Given the description of an element on the screen output the (x, y) to click on. 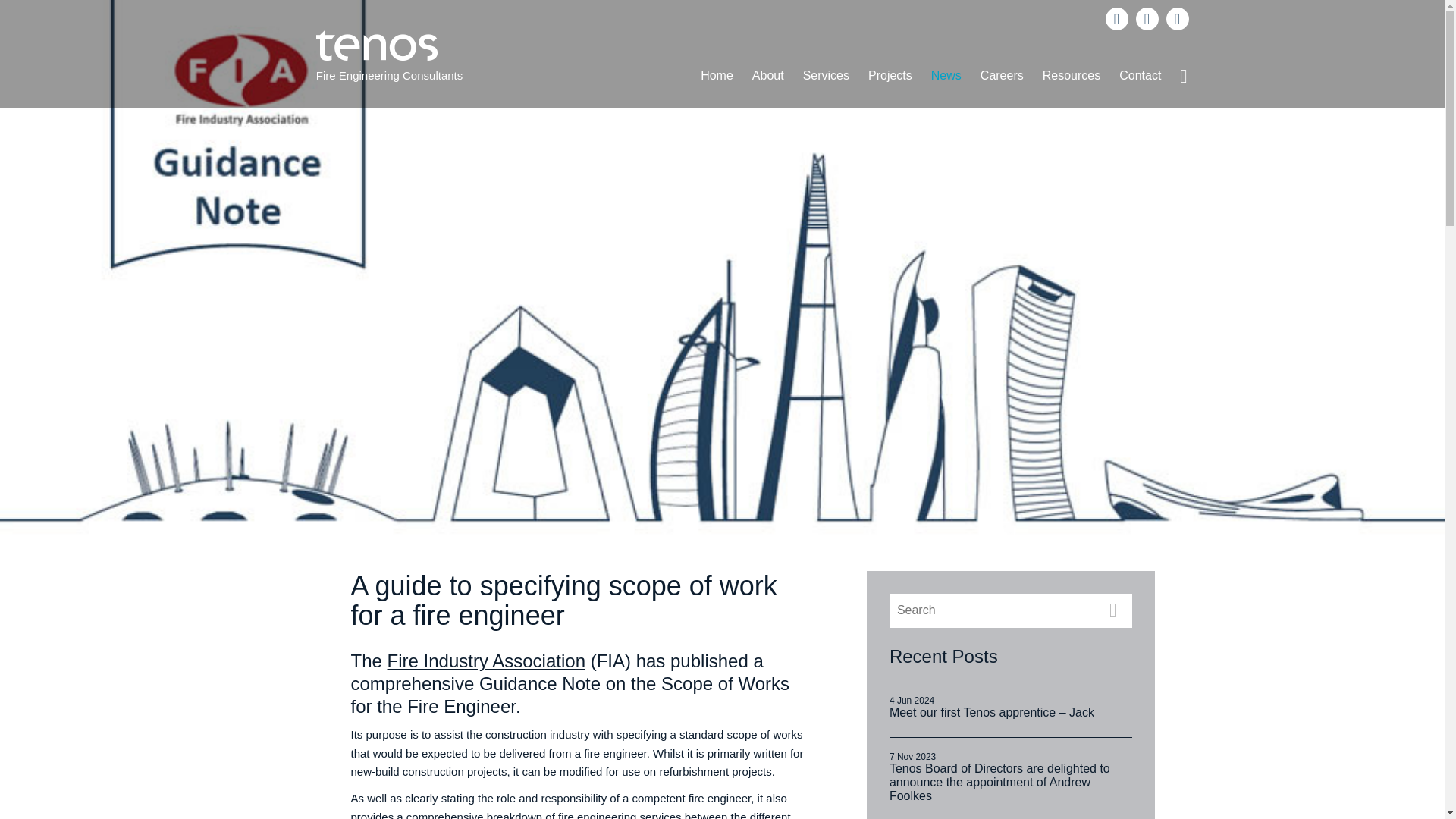
Fire Engineering Consultants (721, 78)
Projects (890, 75)
Search (991, 610)
Go (1112, 610)
About (768, 75)
Resources (1071, 75)
Contact (1140, 75)
Fire Industry Association (486, 660)
